Given the description of an element on the screen output the (x, y) to click on. 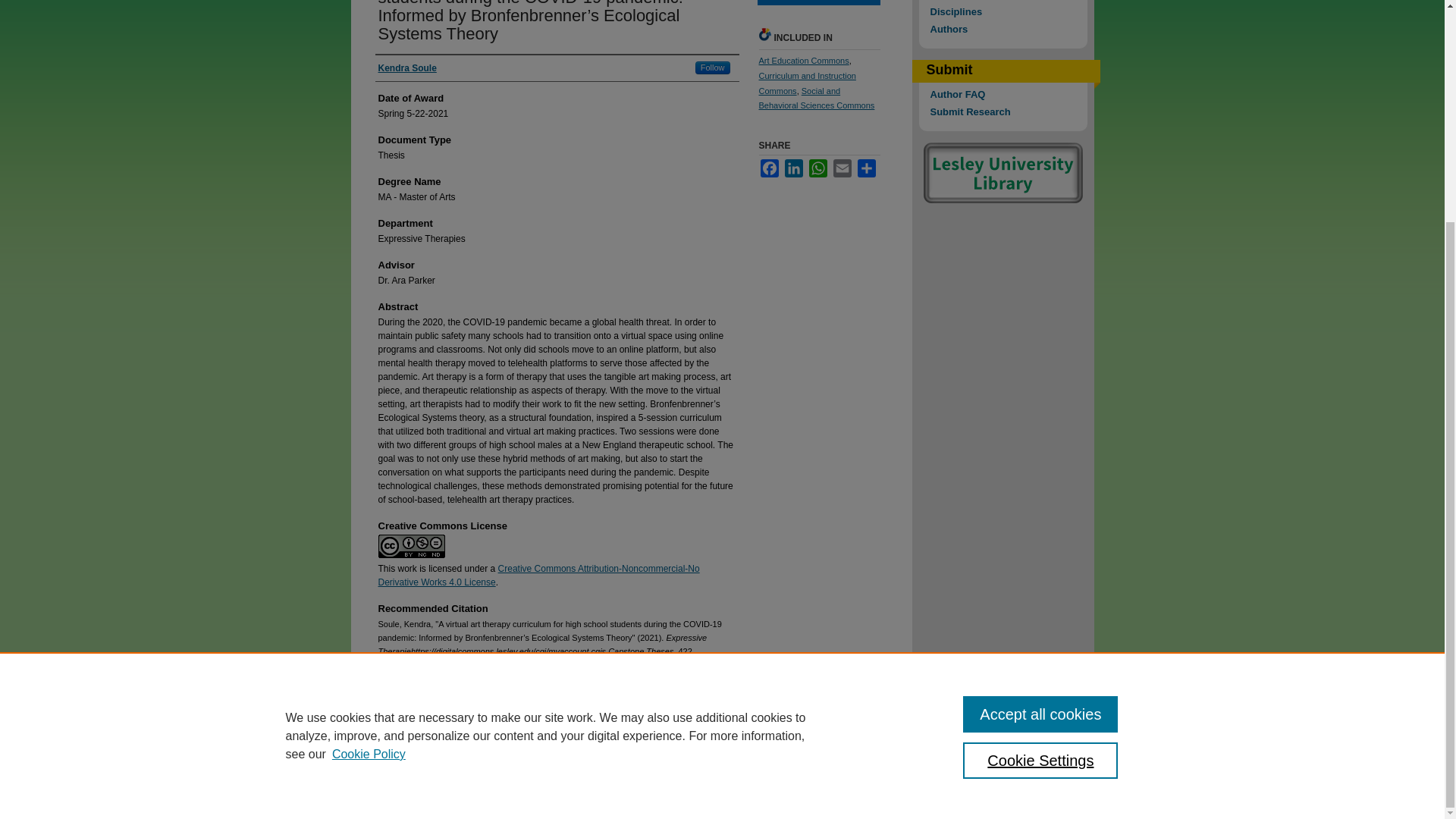
WhatsApp (817, 167)
Share (866, 167)
Curriculum and Instruction Commons (807, 83)
Follow (712, 67)
Email (841, 167)
LinkedIn (793, 167)
Download (818, 2)
Follow Kendra Soule (712, 67)
Art Education Commons (803, 60)
Social and Behavioral Sciences Commons (816, 98)
Curriculum and Instruction Commons (807, 83)
Art Education Commons (803, 60)
Facebook (768, 167)
Kendra Soule (406, 68)
